Given the description of an element on the screen output the (x, y) to click on. 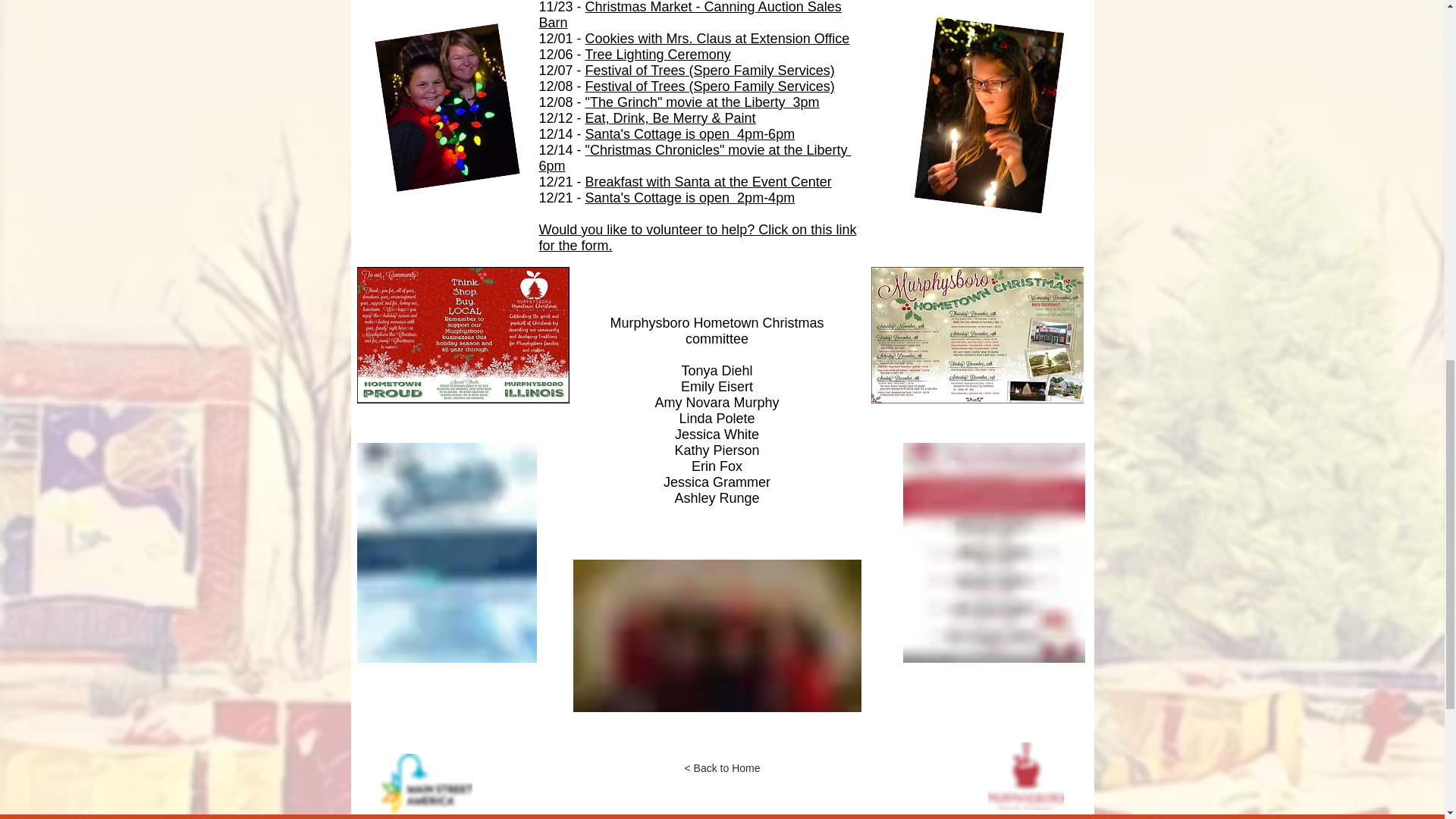
Christmas Market - Canning Auction Sales Barn (689, 15)
Tree Lighting Ceremony (657, 54)
Breakfast with Santa at the Event Center (708, 181)
Santa's Cottage is open  2pm-4pm (689, 197)
Santa's Cottage is open  4pm-6pm (689, 133)
"Christmas Chronicles" movie at the Liberty  6pm (694, 157)
Murphysboro Hometown Christmas committee (717, 330)
"The Grinch" movie at the Liberty  3pm (702, 102)
Cookies with Mrs. Claus at Extension Office (717, 38)
